Given the description of an element on the screen output the (x, y) to click on. 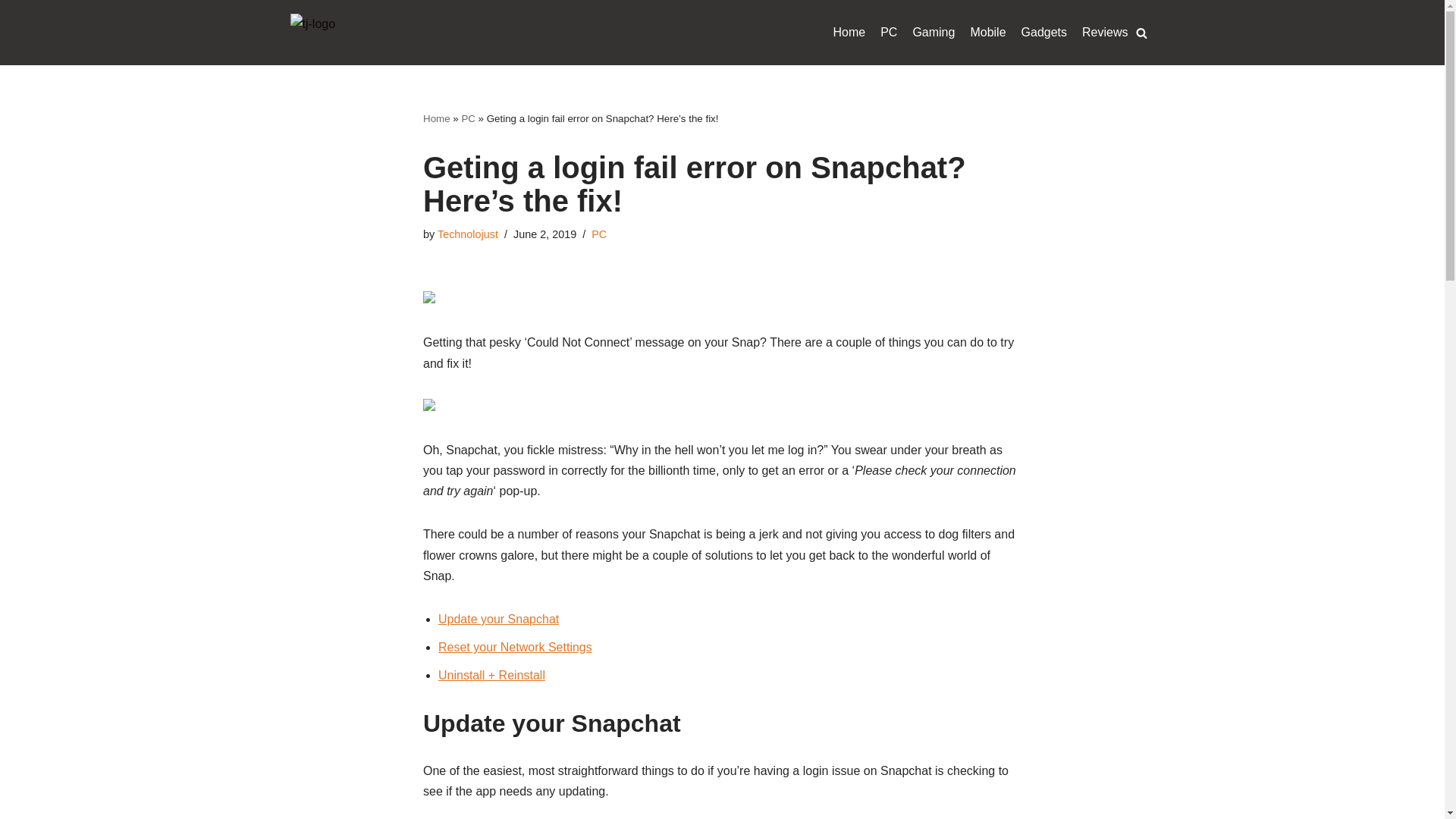
PC (468, 118)
Gaming (933, 32)
Skip to content (11, 31)
Mobile (987, 32)
How to fix a login fail error on Snapchat (429, 406)
Posts by Technolojust (467, 234)
PC (599, 234)
Update your Snapchat (498, 618)
How to fix a login fail error on Snapchat (429, 298)
Gadgets (1044, 32)
